Given the description of an element on the screen output the (x, y) to click on. 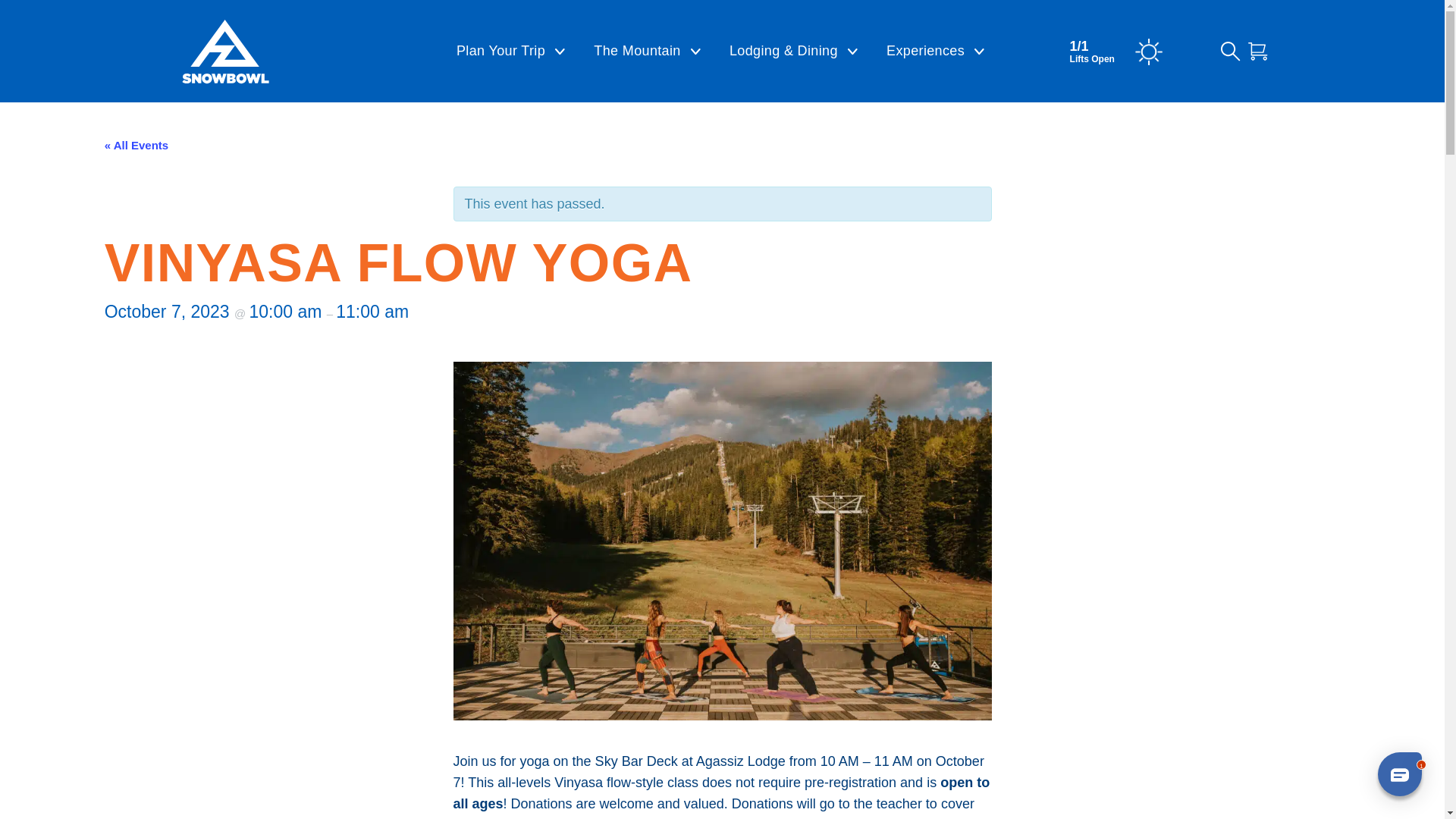
The Mountain (647, 51)
Plan Your Trip (510, 51)
